Given the description of an element on the screen output the (x, y) to click on. 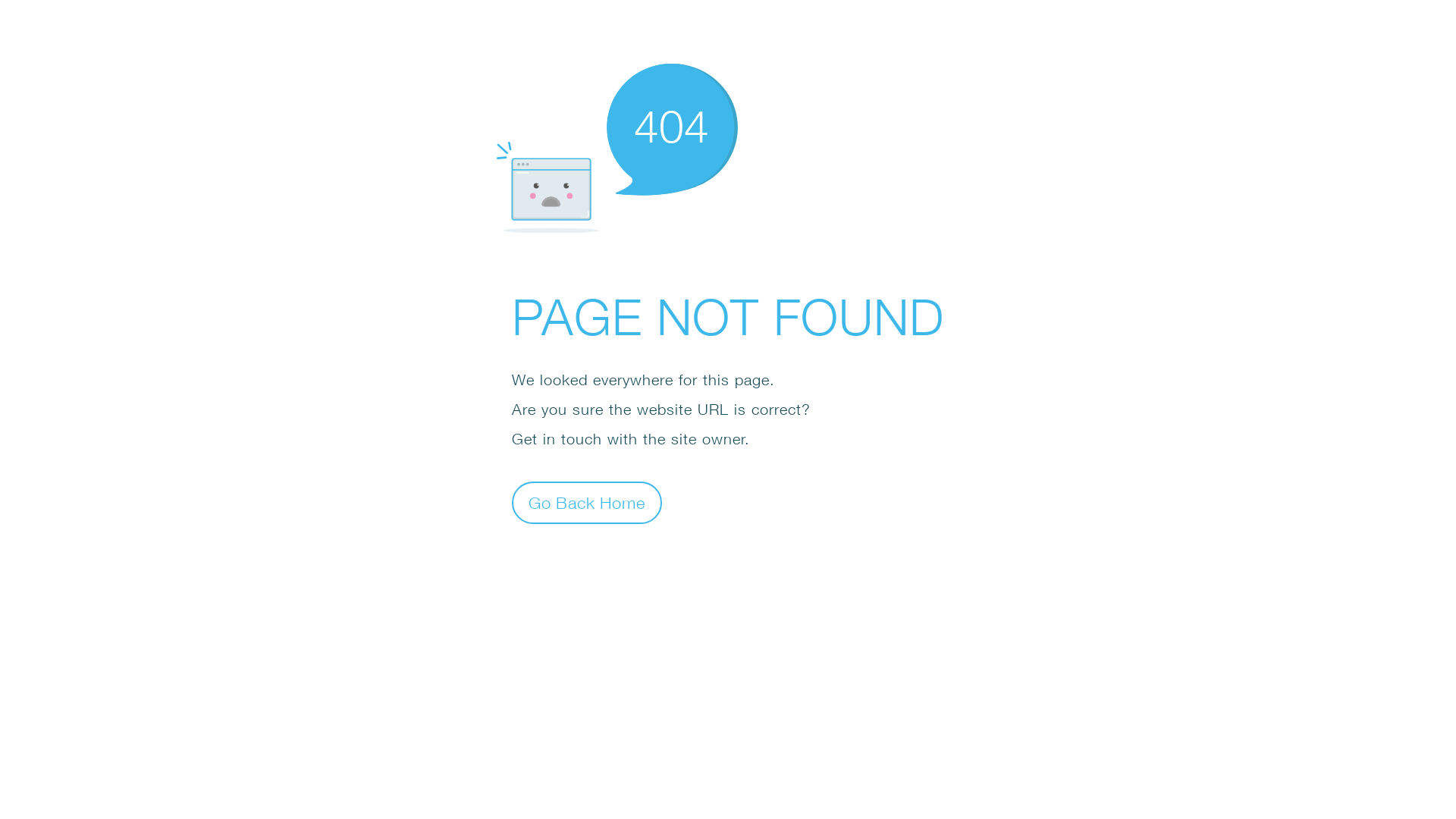
Go Back Home Element type: text (586, 502)
